Given the description of an element on the screen output the (x, y) to click on. 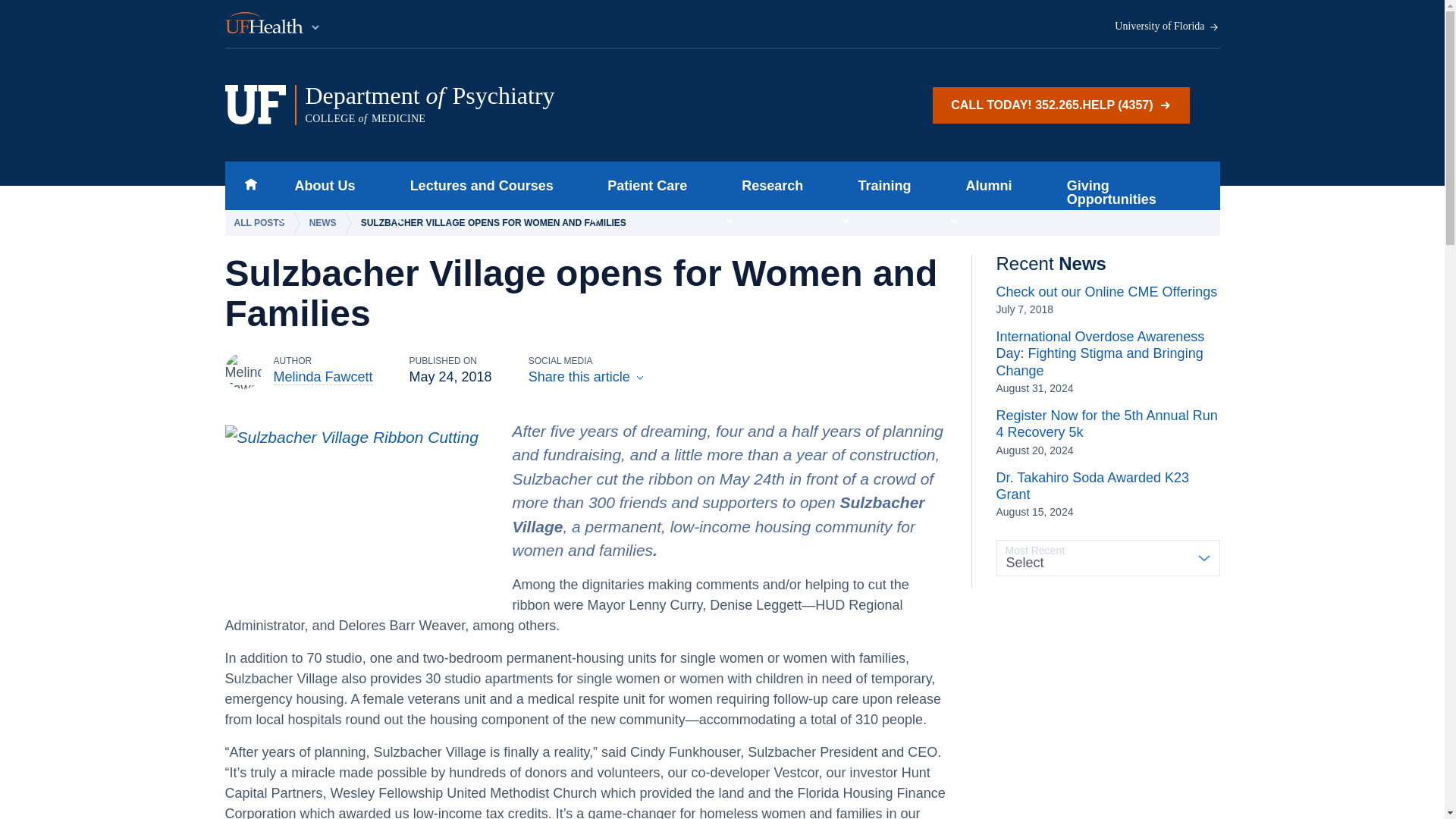
About Us (320, 185)
Posts by Melinda Fawcett (322, 376)
UF Health (272, 24)
Lectures and Courses (476, 185)
University of Florida (1167, 26)
Home (515, 105)
